Given the description of an element on the screen output the (x, y) to click on. 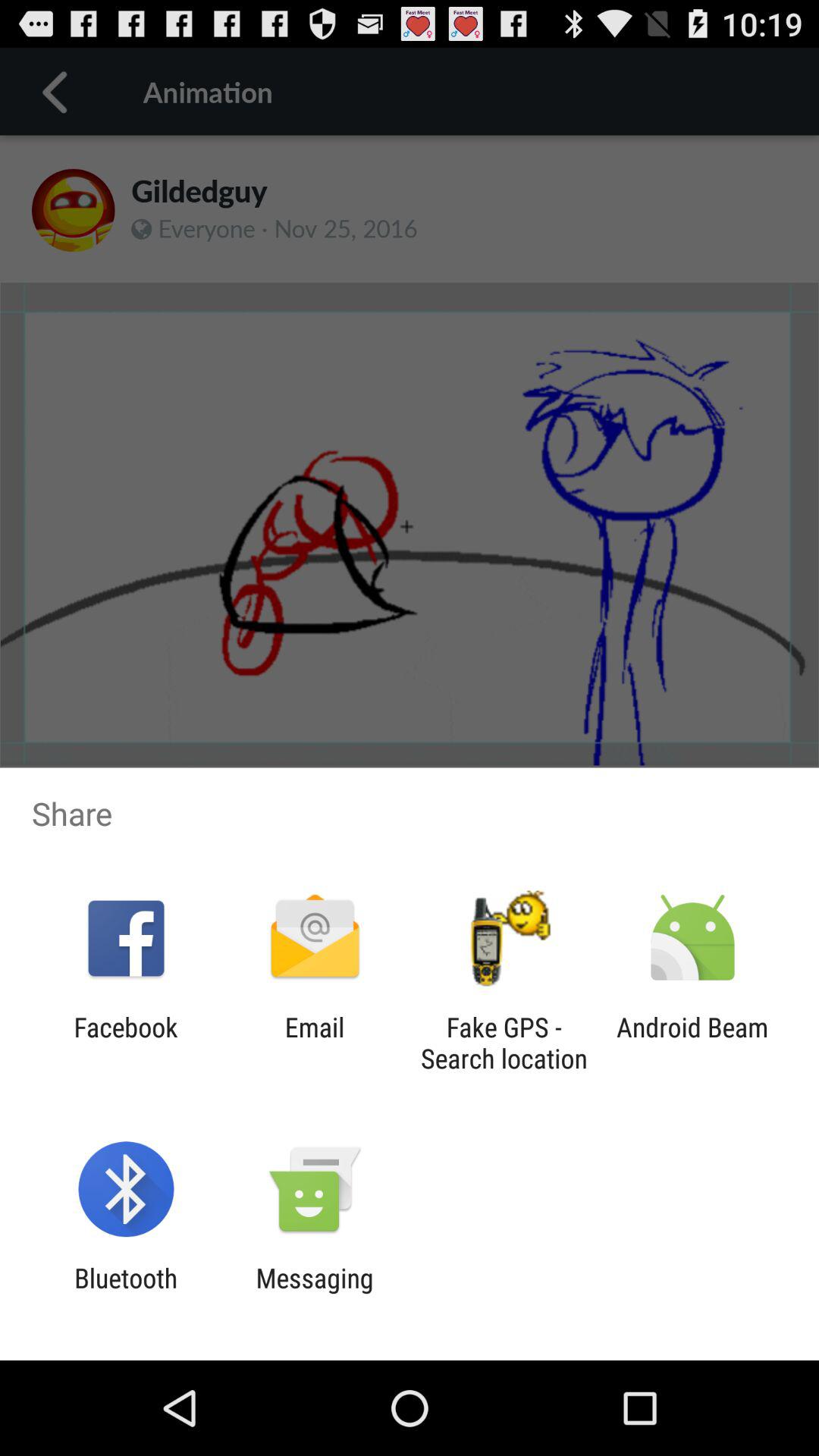
launch item next to messaging icon (125, 1293)
